Given the description of an element on the screen output the (x, y) to click on. 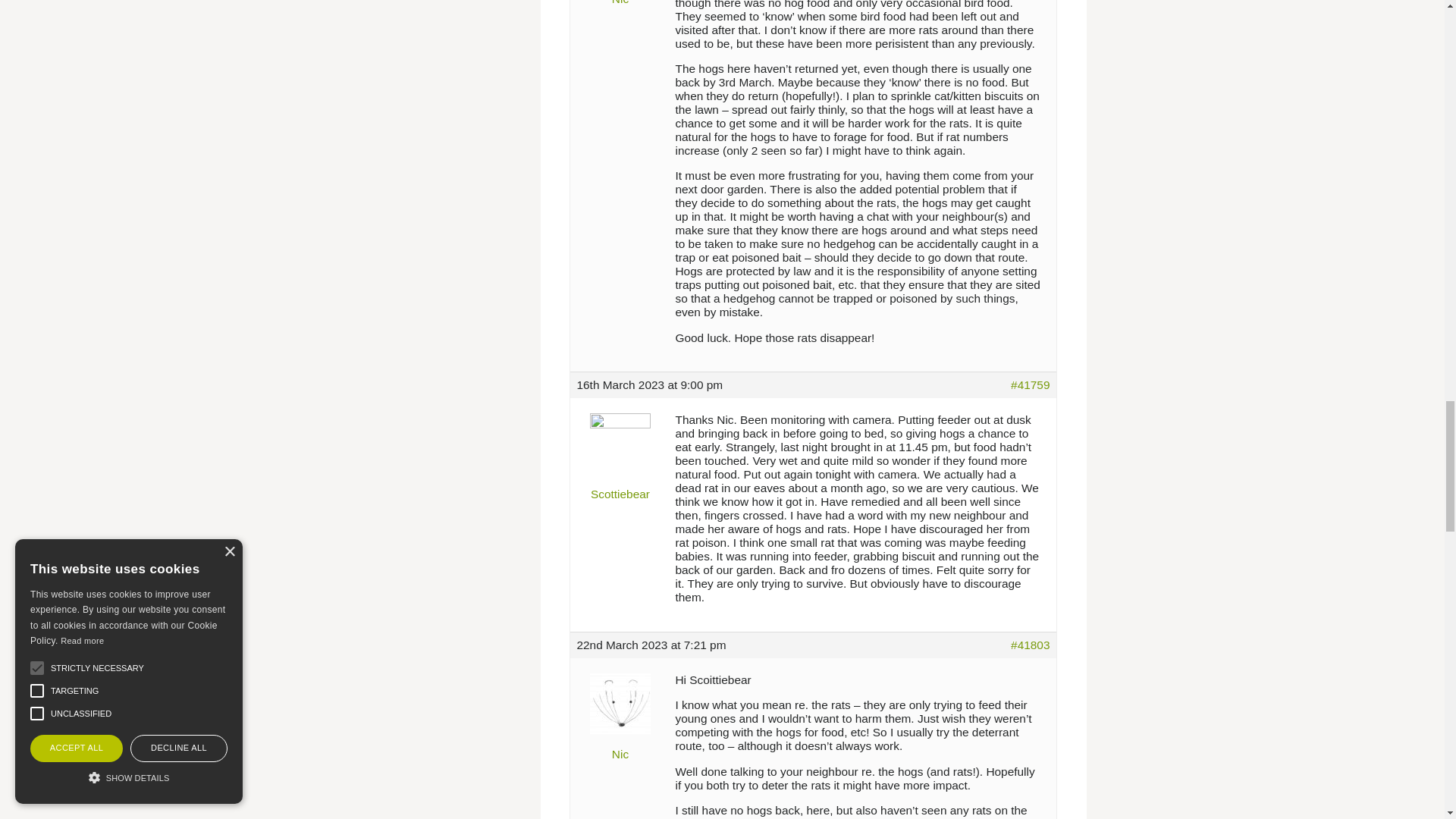
View Scottiebear's profile (619, 452)
View Nic's profile (619, 2)
View Nic's profile (619, 712)
